Given the description of an element on the screen output the (x, y) to click on. 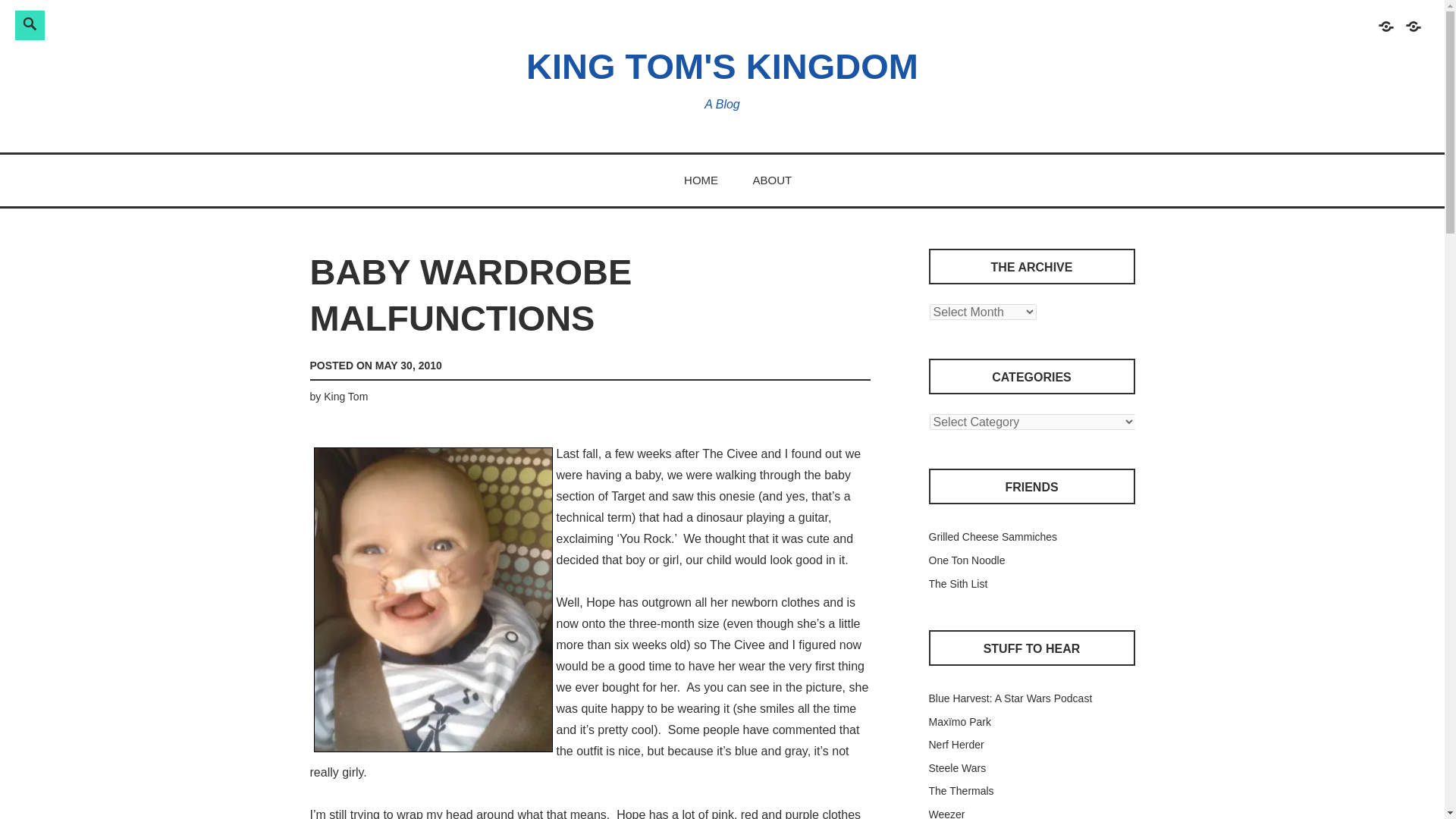
King Tom (345, 396)
Search (242, 22)
Search (242, 22)
Home (1385, 33)
Grilled Cheese Sammiches (992, 536)
The Thermals (960, 790)
Search (242, 22)
Blue Harvest: A Star Wars Podcast (1010, 698)
HOME (700, 179)
Steele Wars (956, 767)
